Given the description of an element on the screen output the (x, y) to click on. 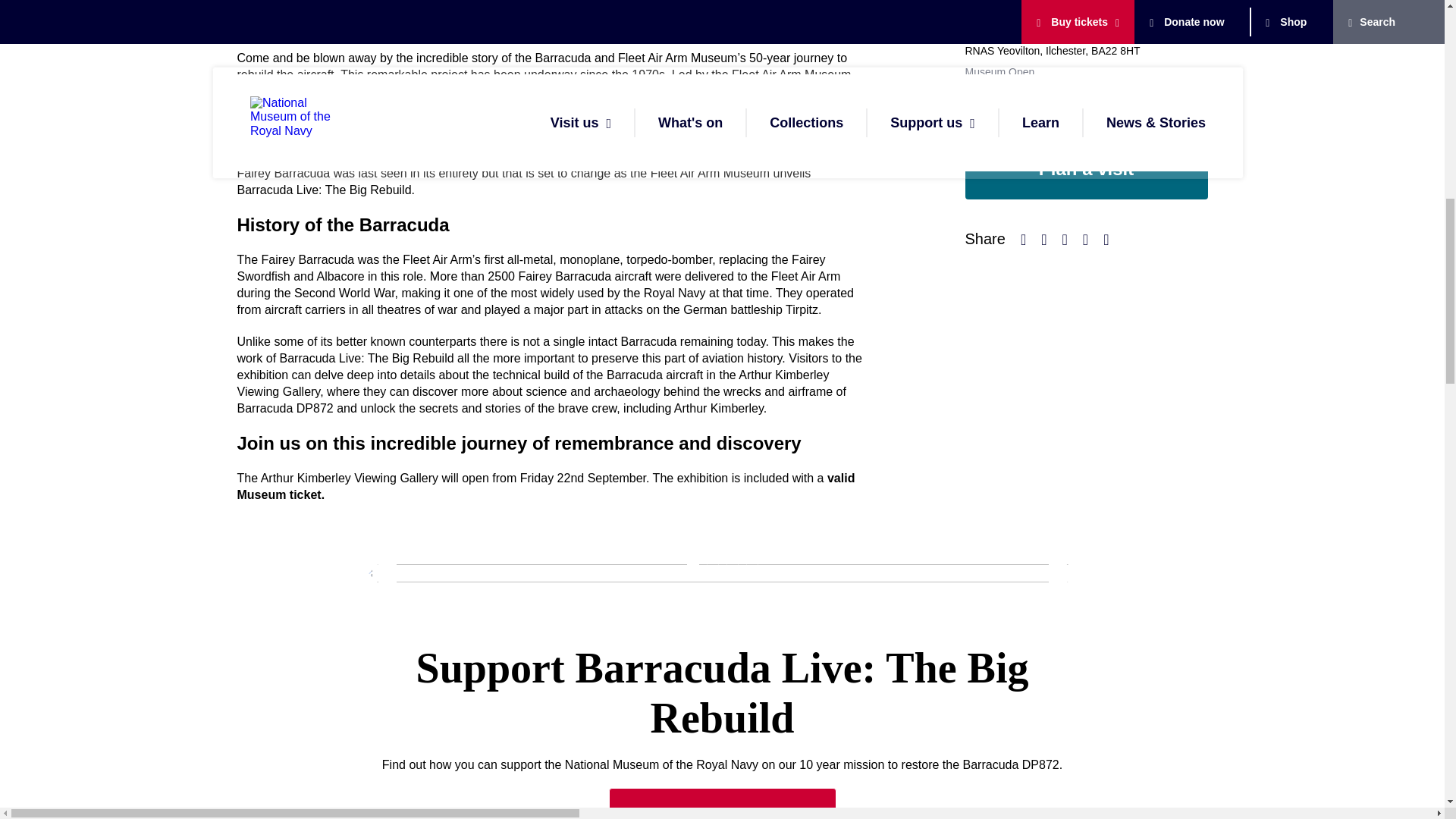
Buy tickets for Fleet Air Arm Museum (544, 486)
Next slide (1067, 573)
Previous slide (377, 573)
